Given the description of an element on the screen output the (x, y) to click on. 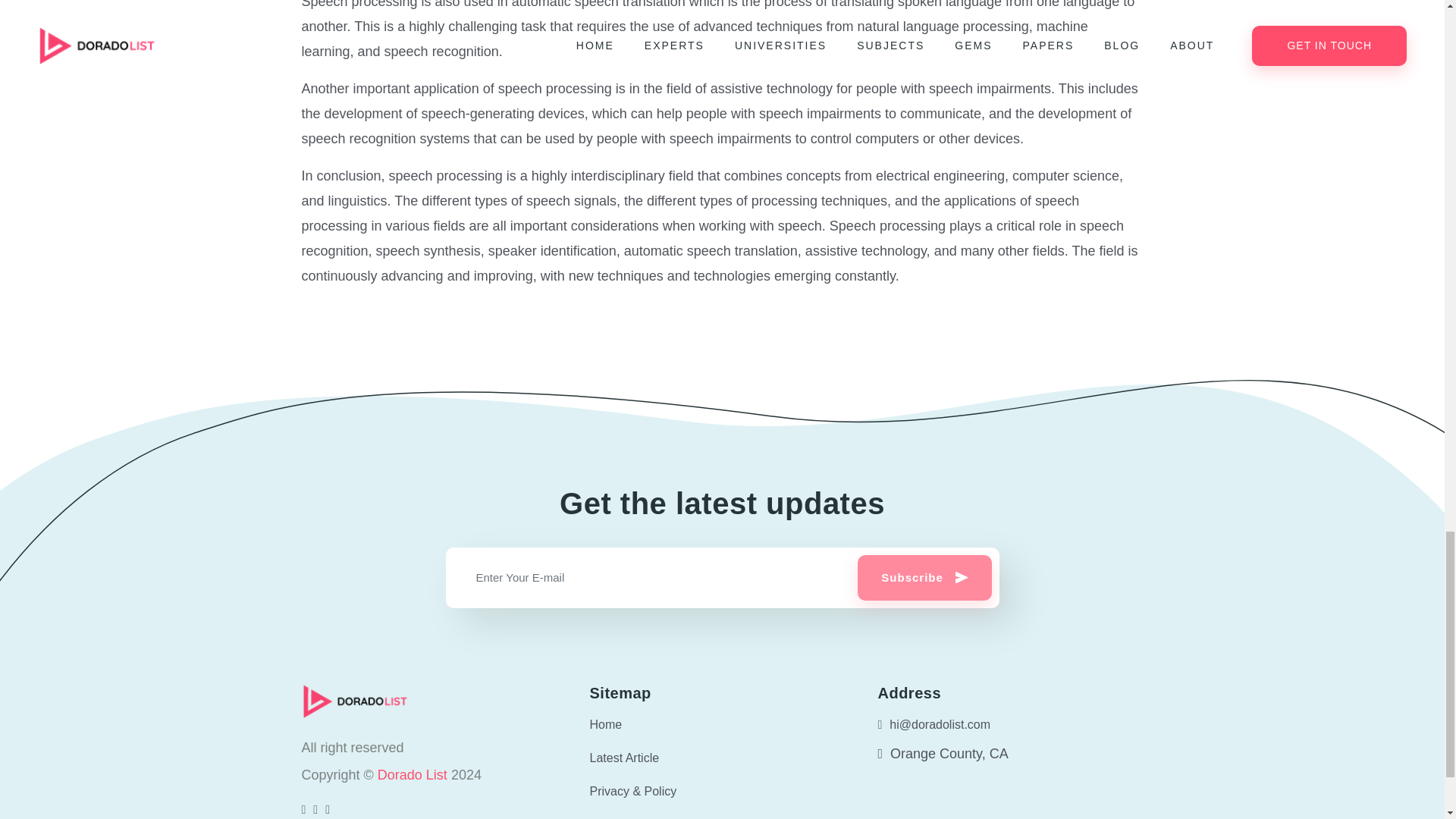
Dorado List (414, 774)
Latest Article (721, 758)
Home (721, 725)
Subscribe (924, 577)
